Given the description of an element on the screen output the (x, y) to click on. 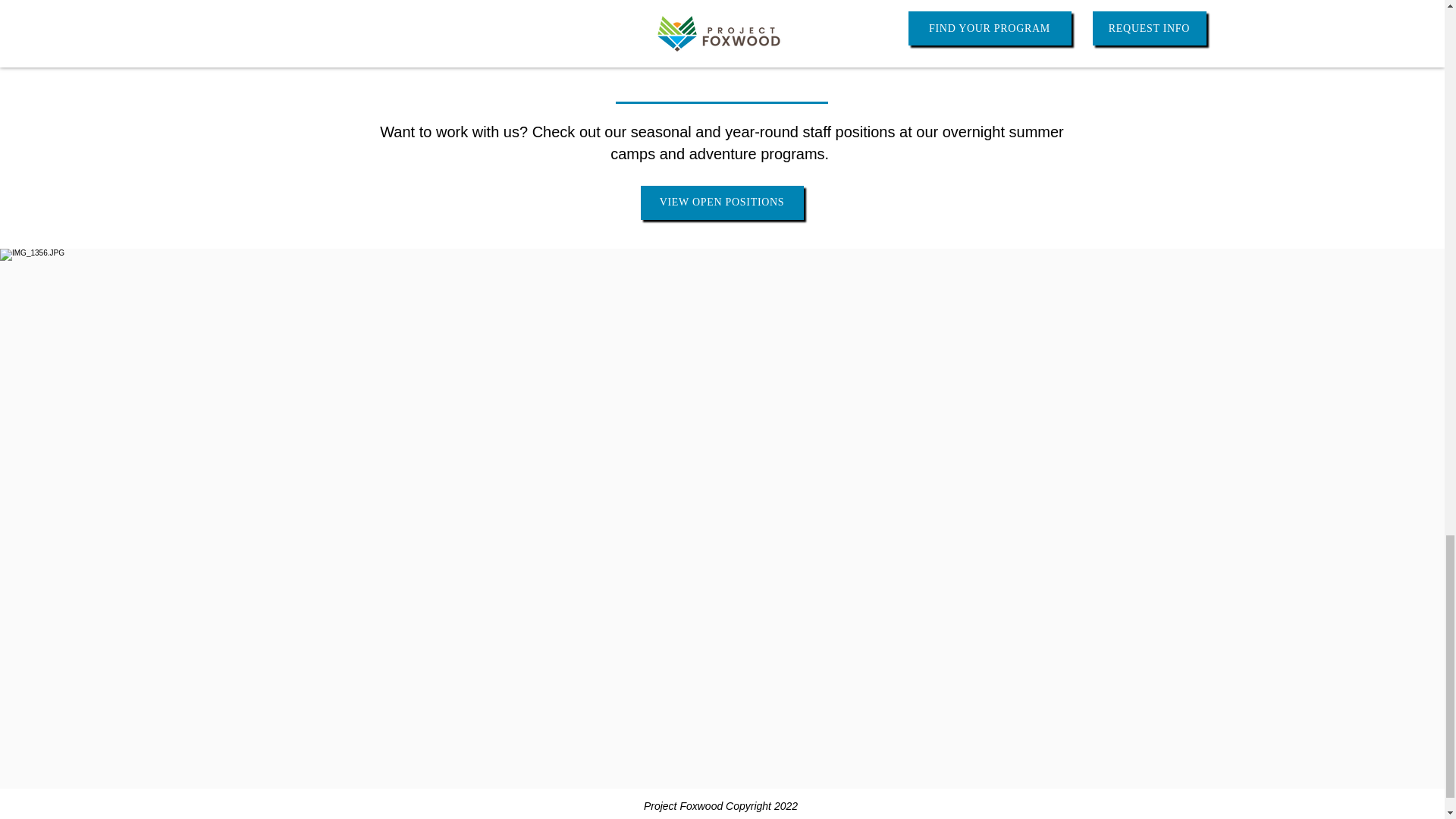
VIEW OPEN POSITIONS (721, 202)
